Given the description of an element on the screen output the (x, y) to click on. 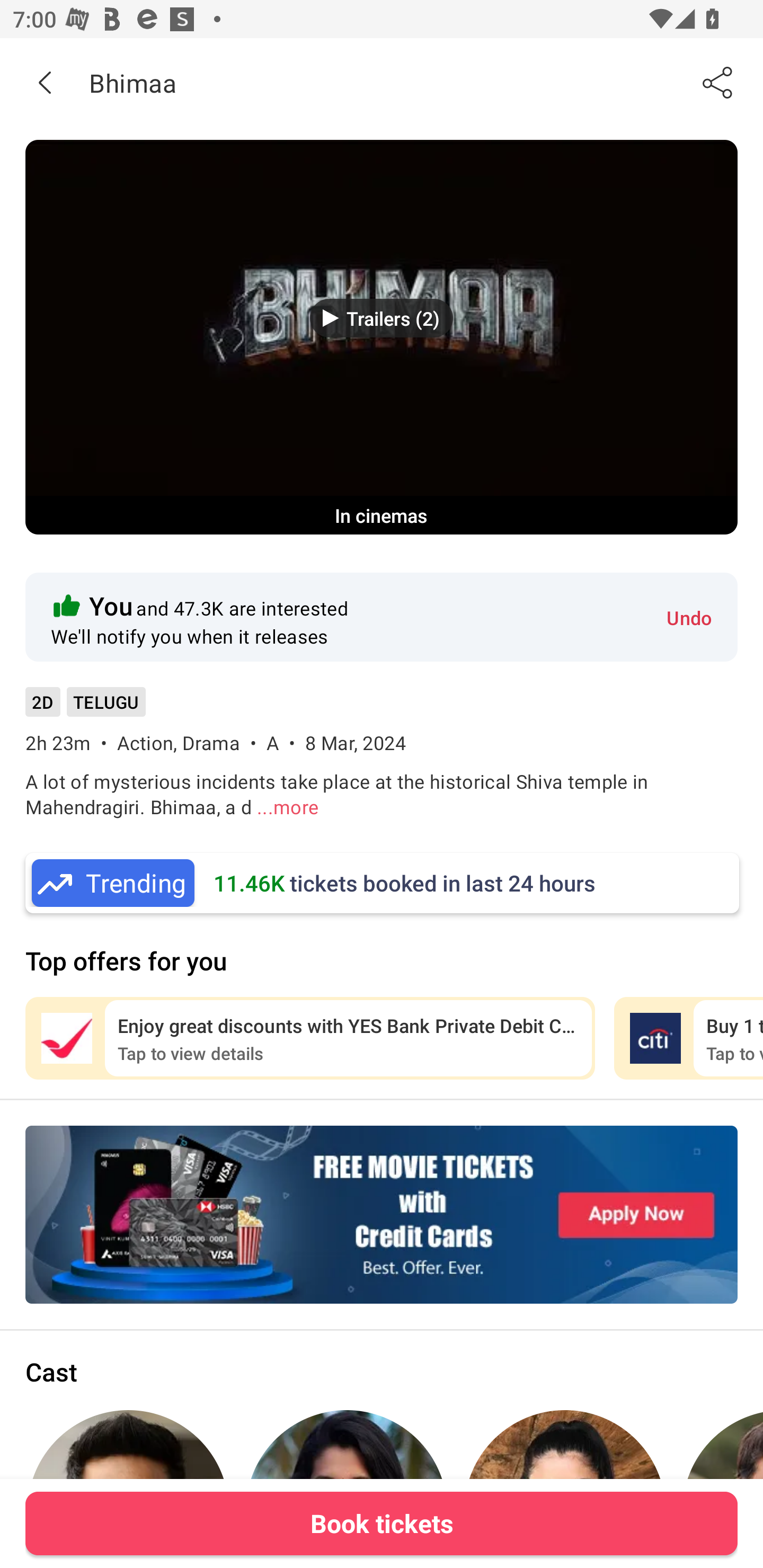
Back (44, 82)
Share (718, 82)
Movie Banner Trailers (2) In cinemas (381, 336)
Trailers (2) (381, 318)
Undo (688, 616)
2D TELUGU (85, 707)
Book tickets (381, 1523)
